Given the description of an element on the screen output the (x, y) to click on. 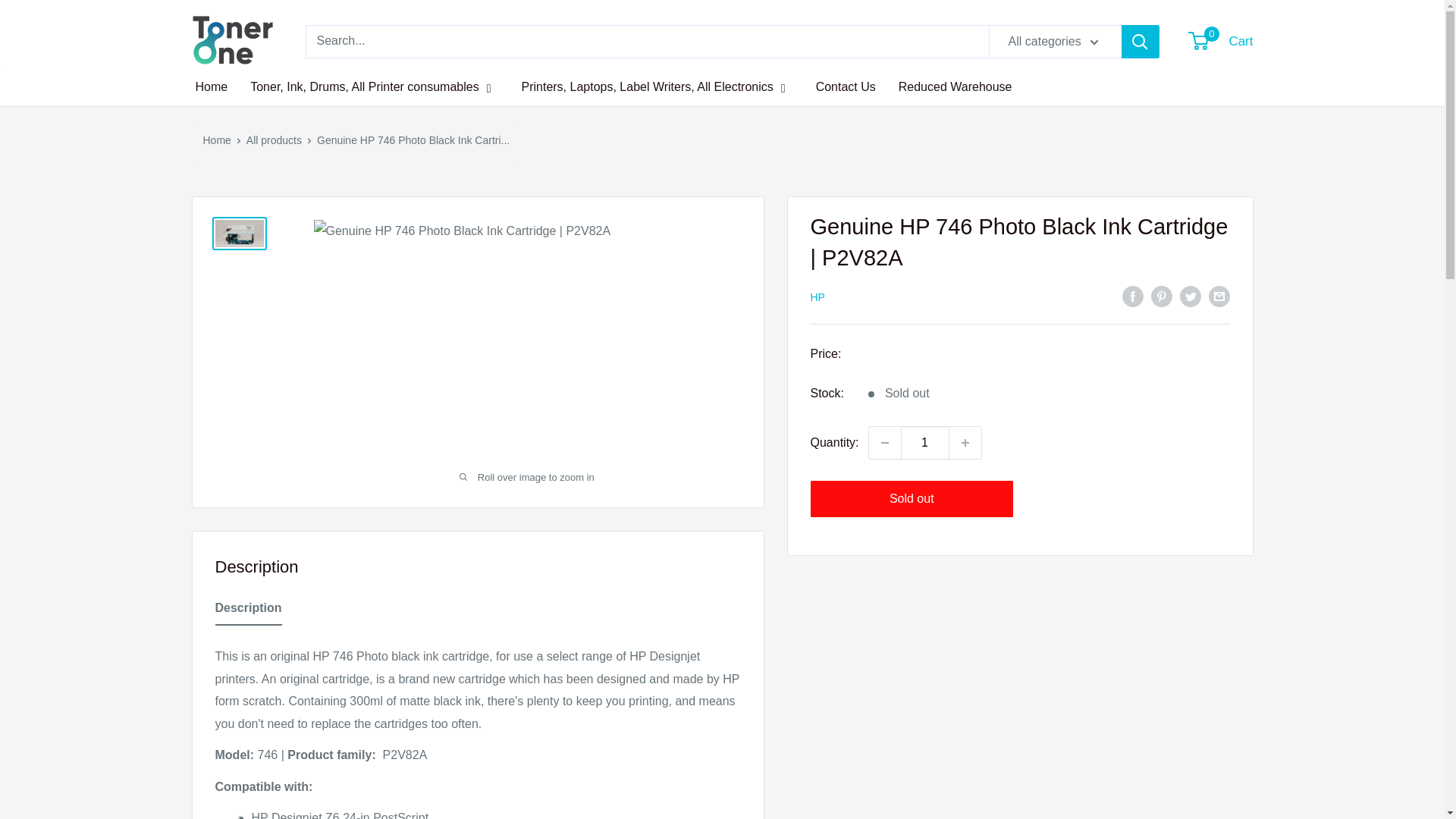
1 (925, 442)
Increase quantity by 1 (965, 442)
Decrease quantity by 1 (885, 442)
